Given the description of an element on the screen output the (x, y) to click on. 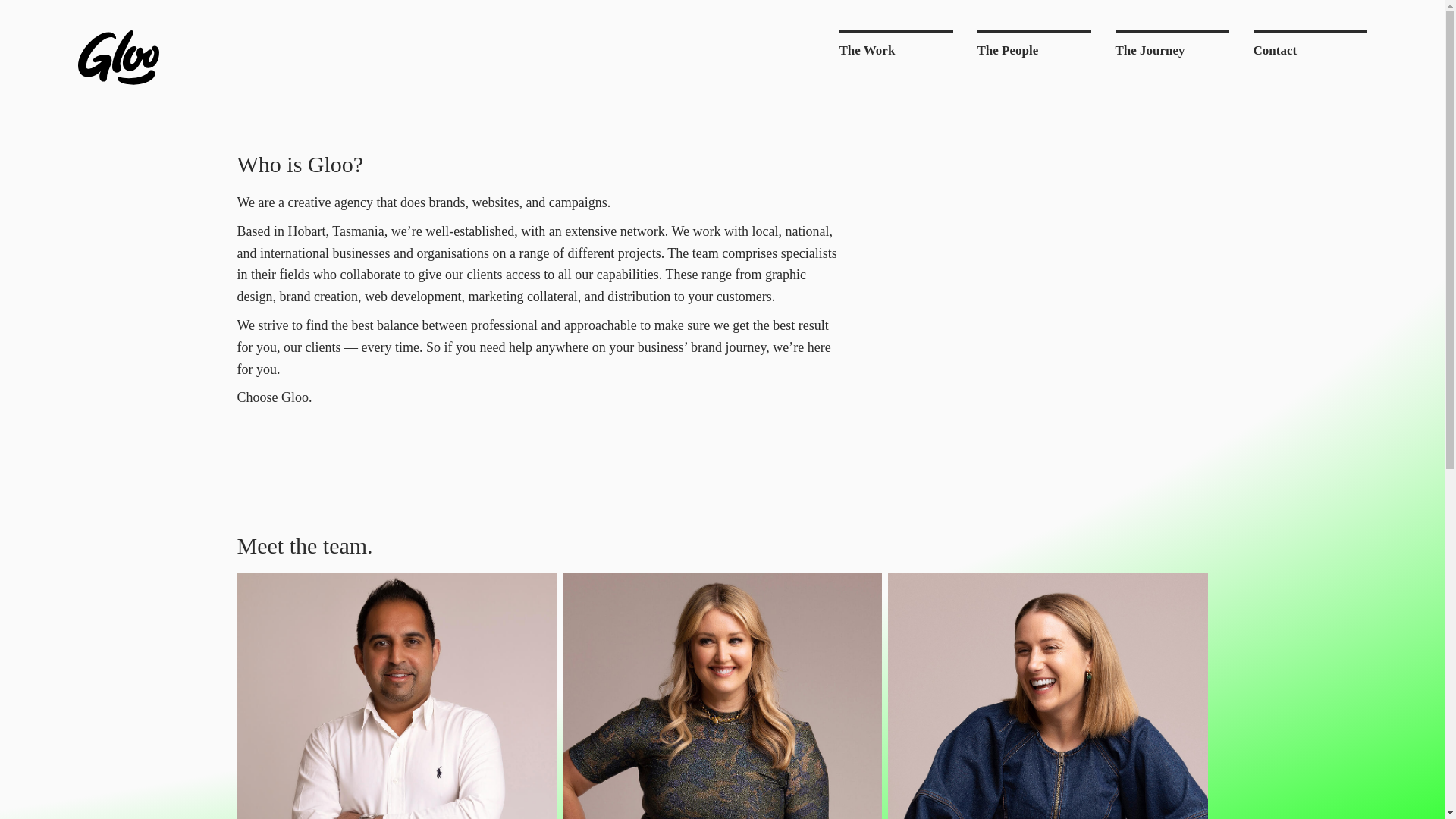
The Work Element type: text (895, 46)
The Journey Element type: text (1171, 46)
The People Element type: text (1033, 46)
Contact Element type: text (1309, 46)
